Given the description of an element on the screen output the (x, y) to click on. 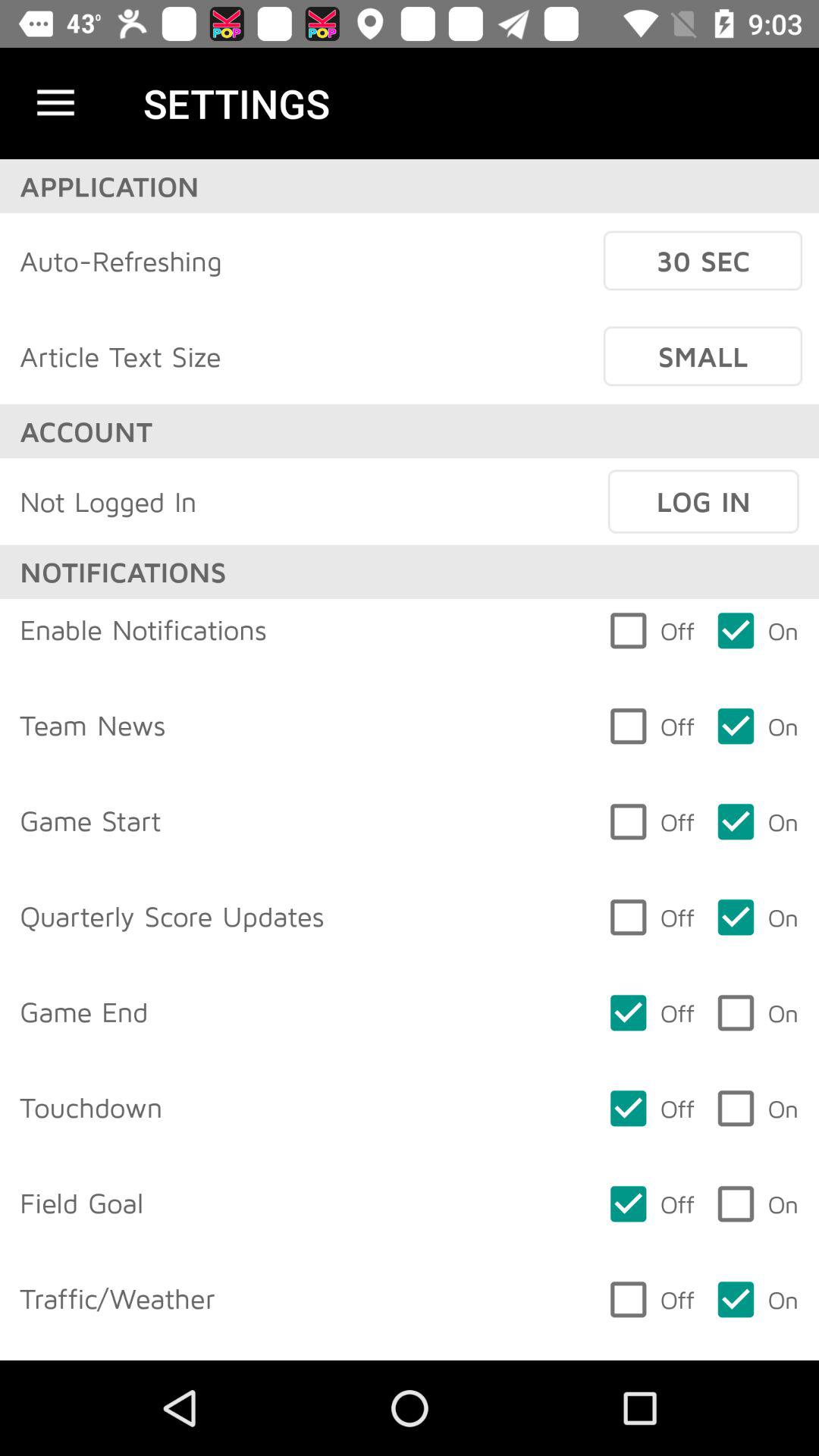
click log in (703, 501)
